Given the description of an element on the screen output the (x, y) to click on. 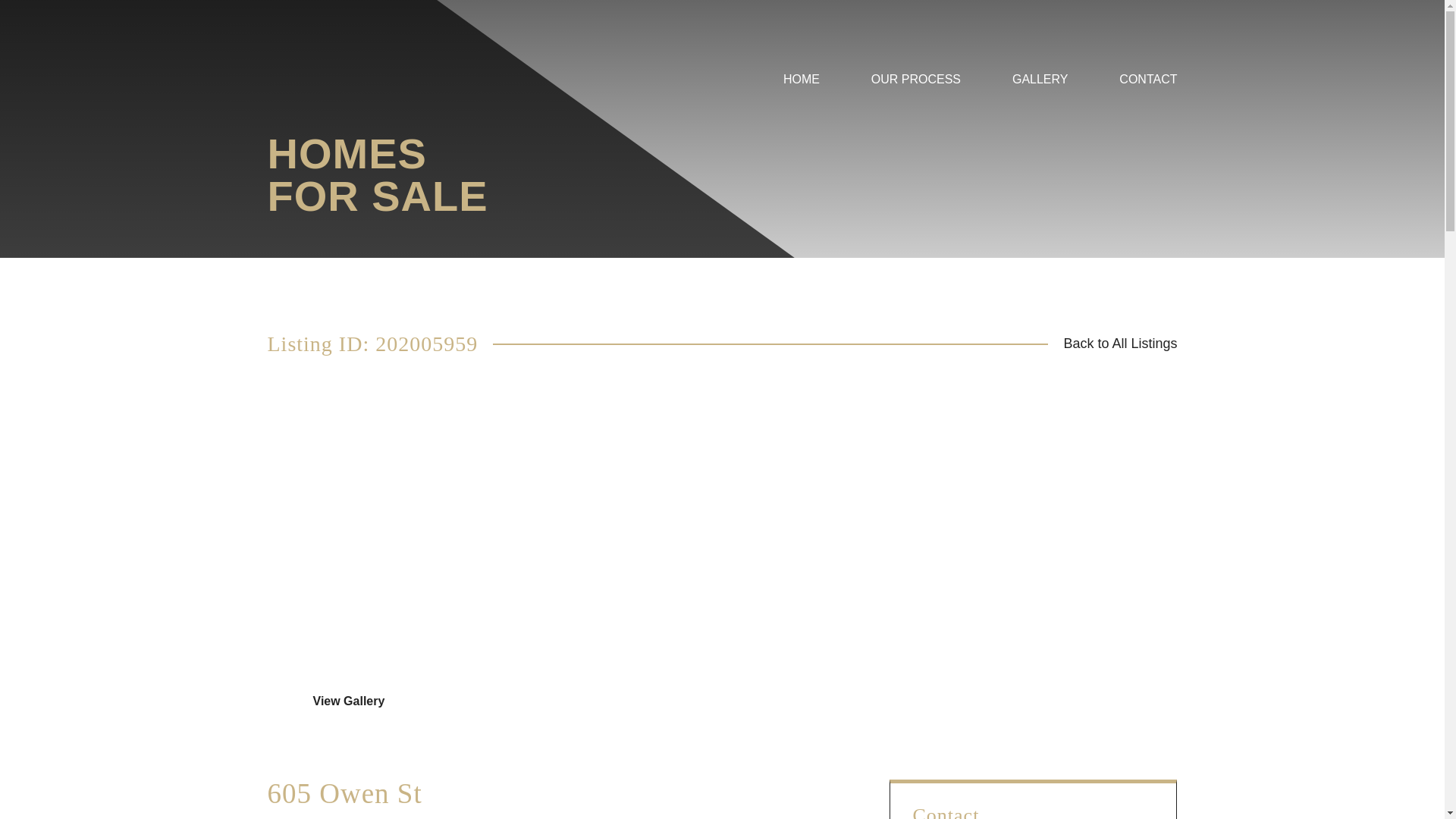
HOME (801, 94)
CONTACT (1147, 94)
OUR PROCESS (915, 94)
GALLERY (1039, 94)
View Gallery (348, 701)
Back to All Listings (1119, 343)
